Given the description of an element on the screen output the (x, y) to click on. 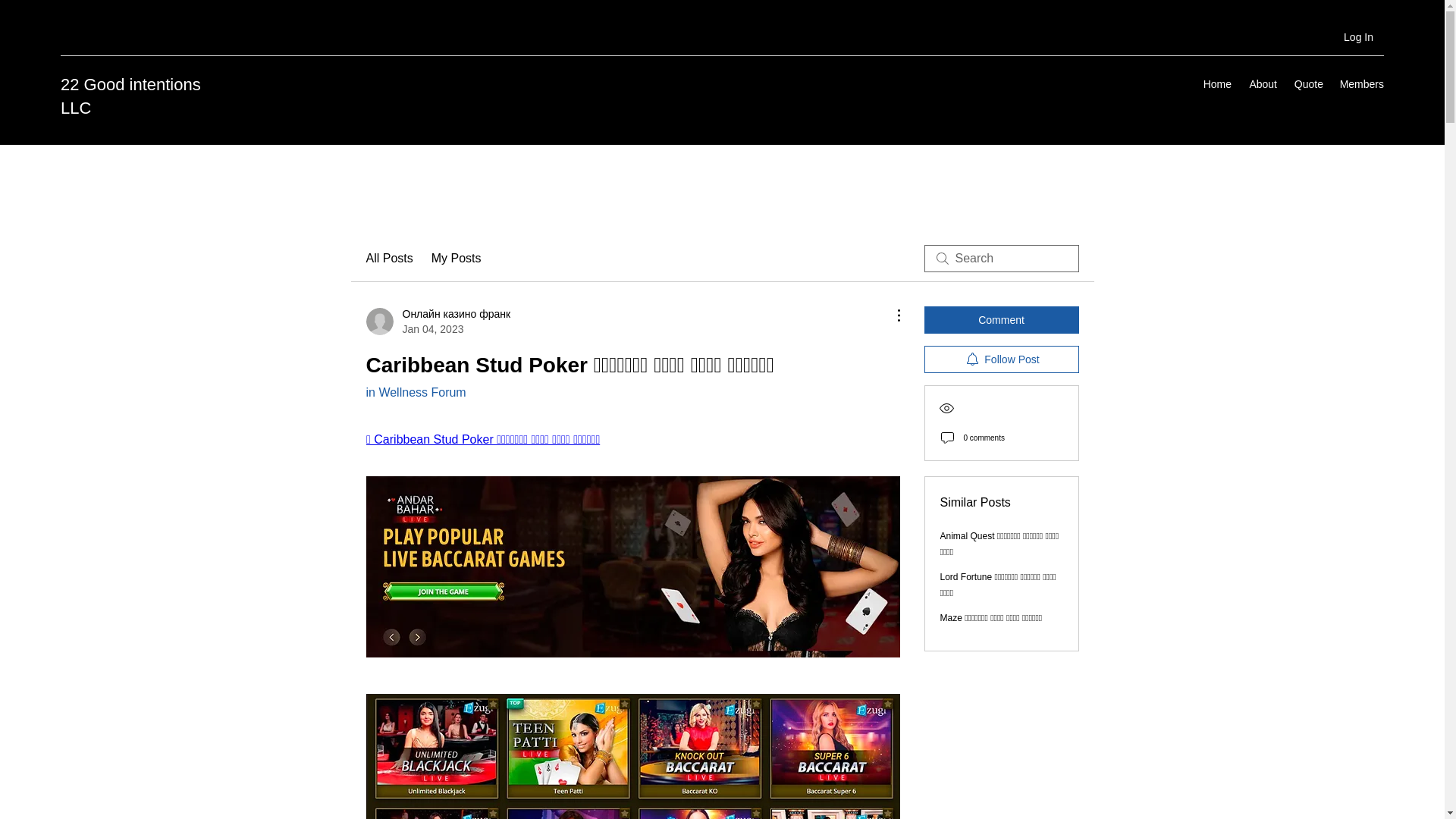
About (1261, 83)
Follow Post (1000, 359)
22 Good intentions LLC (130, 96)
Home (1217, 83)
in Wellness Forum (415, 391)
Quote (1307, 83)
Members (1360, 83)
My Posts (455, 258)
All Posts (388, 258)
Comment (1000, 319)
Log In (1358, 37)
